Given the description of an element on the screen output the (x, y) to click on. 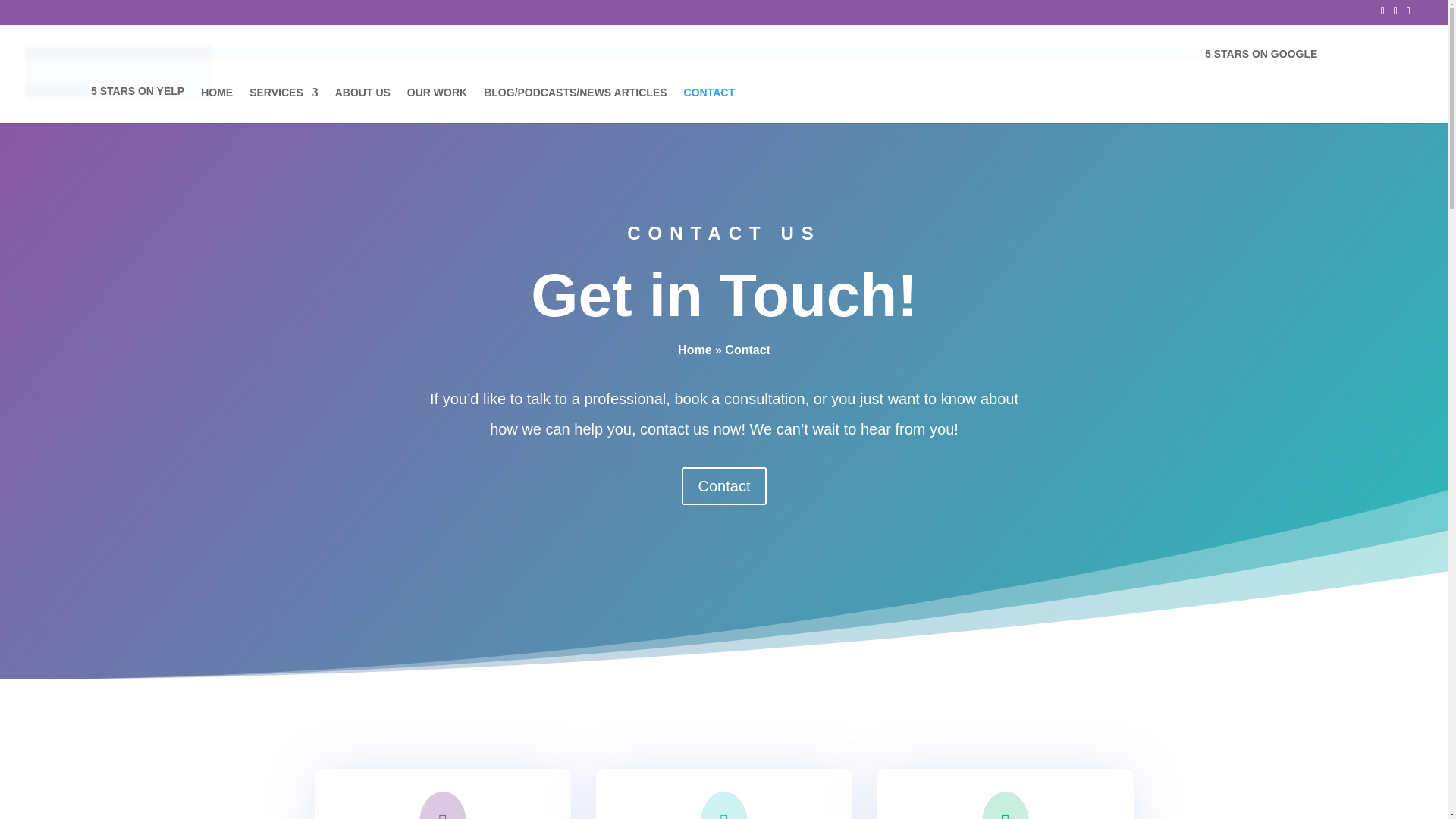
Home (216, 104)
About Us (362, 104)
5 STARS ON YELP (103, 103)
ABOUT US (362, 104)
Services (283, 104)
SERVICES (283, 104)
Contact Us (709, 104)
Home (694, 349)
CONTACT (709, 104)
Contact (724, 485)
OUR WORK (437, 104)
HOME (216, 104)
Case Studies (437, 104)
5 STARS ON GOOGLE (670, 66)
